Given the description of an element on the screen output the (x, y) to click on. 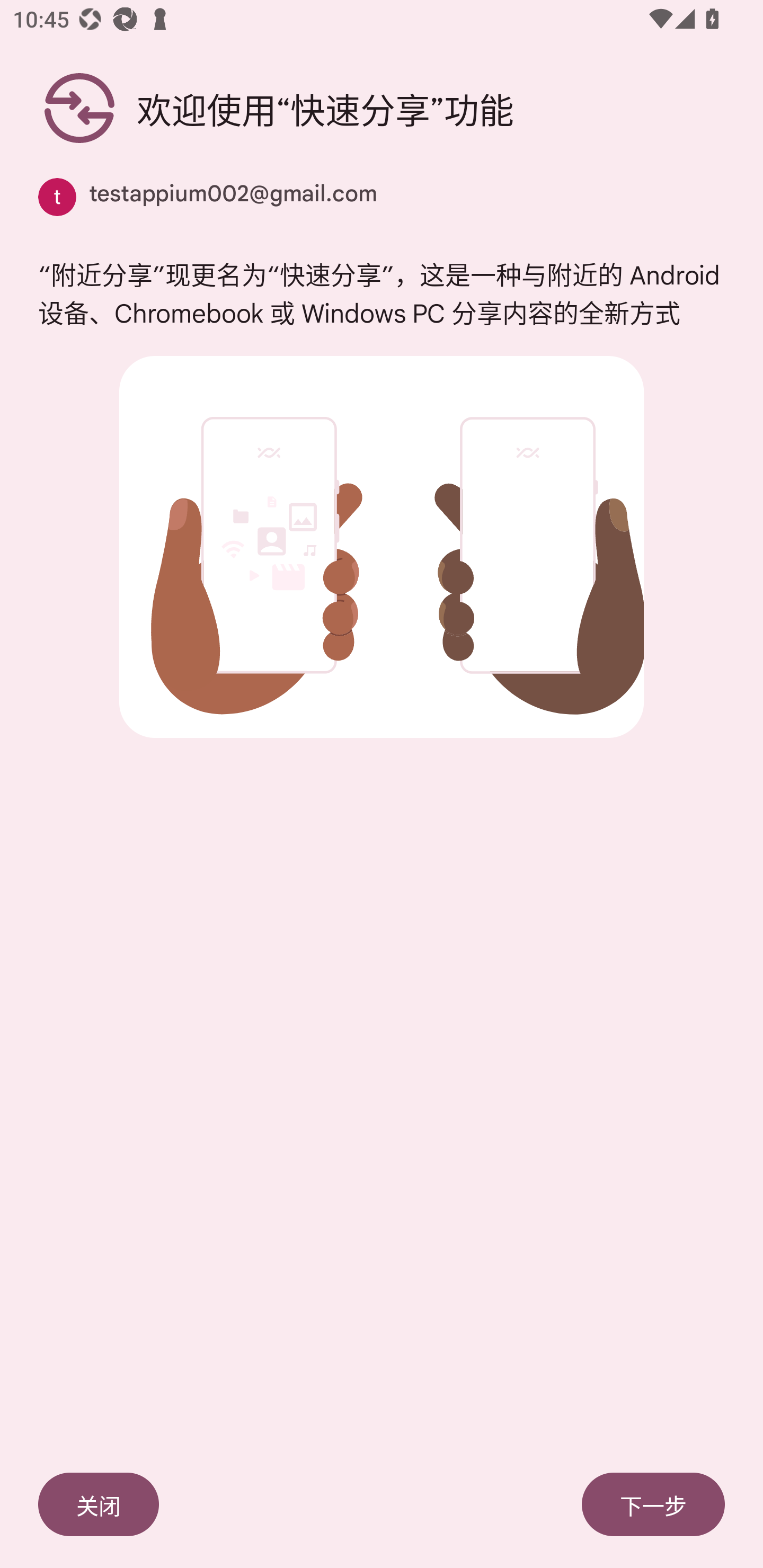
关闭 (98, 1504)
下一步 (652, 1504)
